Given the description of an element on the screen output the (x, y) to click on. 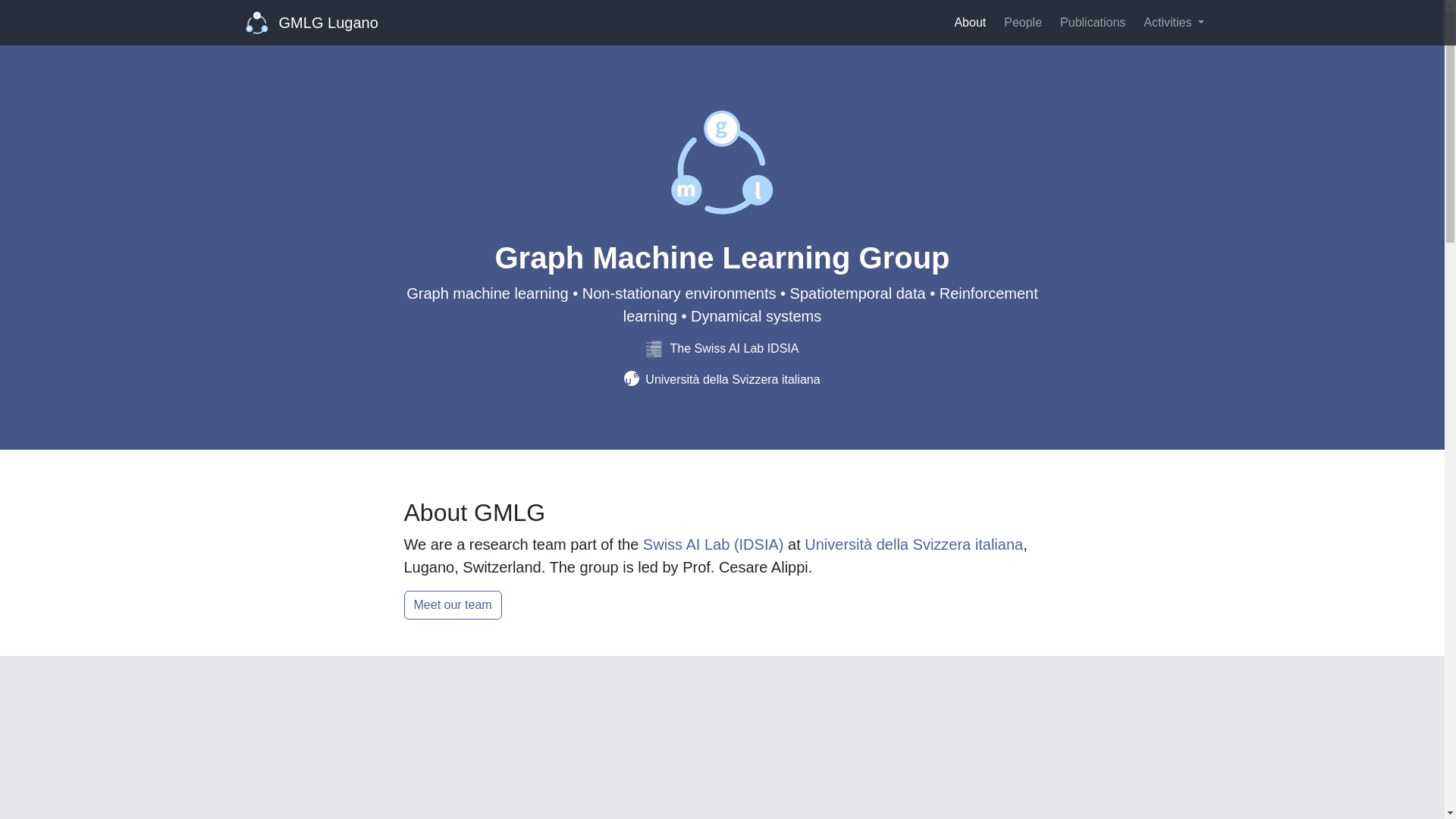
Activities (1173, 22)
GMLG Lugano (312, 22)
Publications (1092, 22)
People (1022, 22)
About (969, 22)
Meet our team (451, 604)
The Swiss AI Lab IDSIA (722, 348)
